Given the description of an element on the screen output the (x, y) to click on. 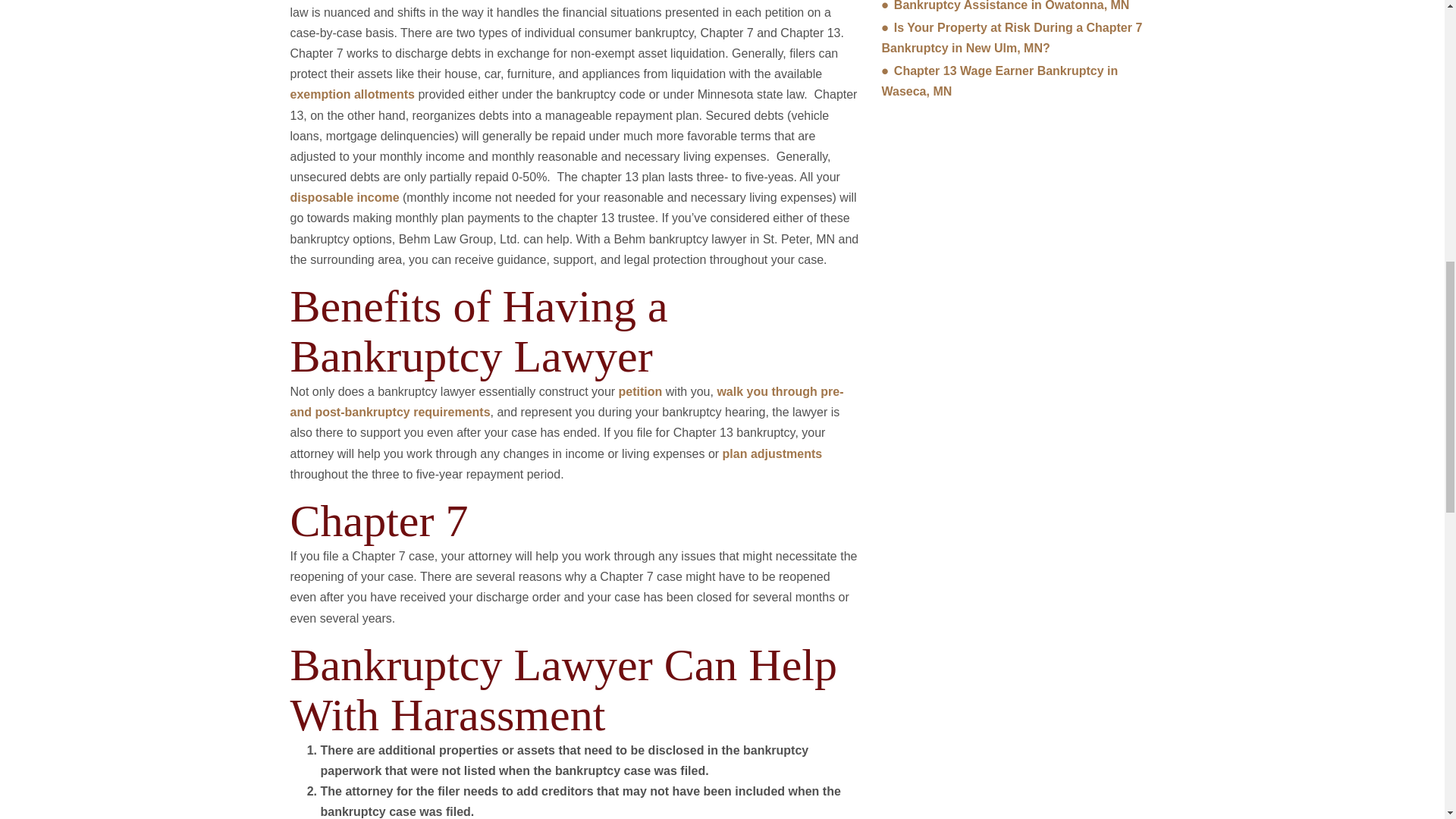
petition (640, 391)
walk you through (766, 391)
pre- and post-bankruptcy requirements (566, 401)
exemption allotments (351, 93)
plan adjustments (772, 453)
disposable income (343, 196)
